Given the description of an element on the screen output the (x, y) to click on. 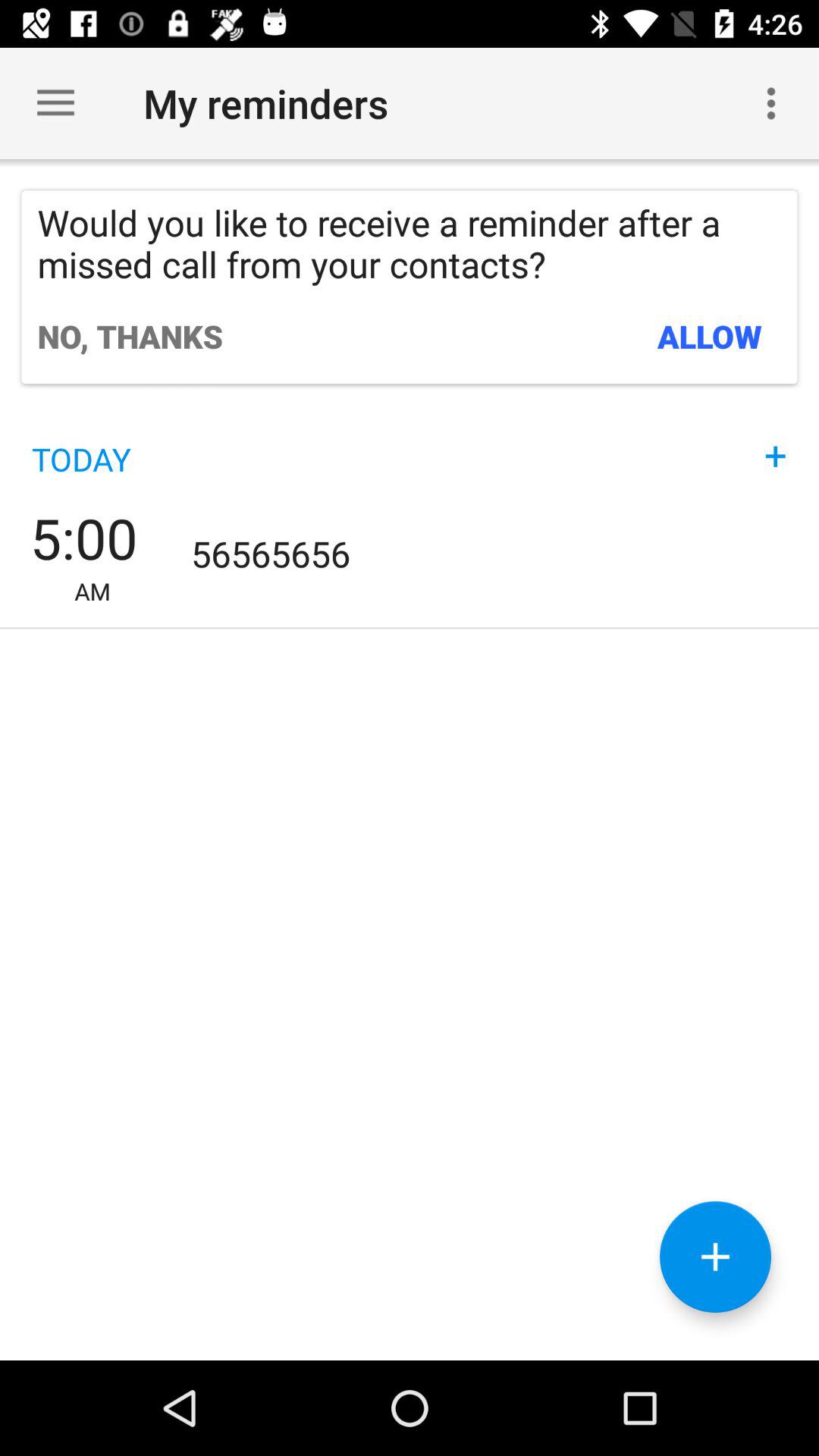
select the item above the today (129, 335)
